Given the description of an element on the screen output the (x, y) to click on. 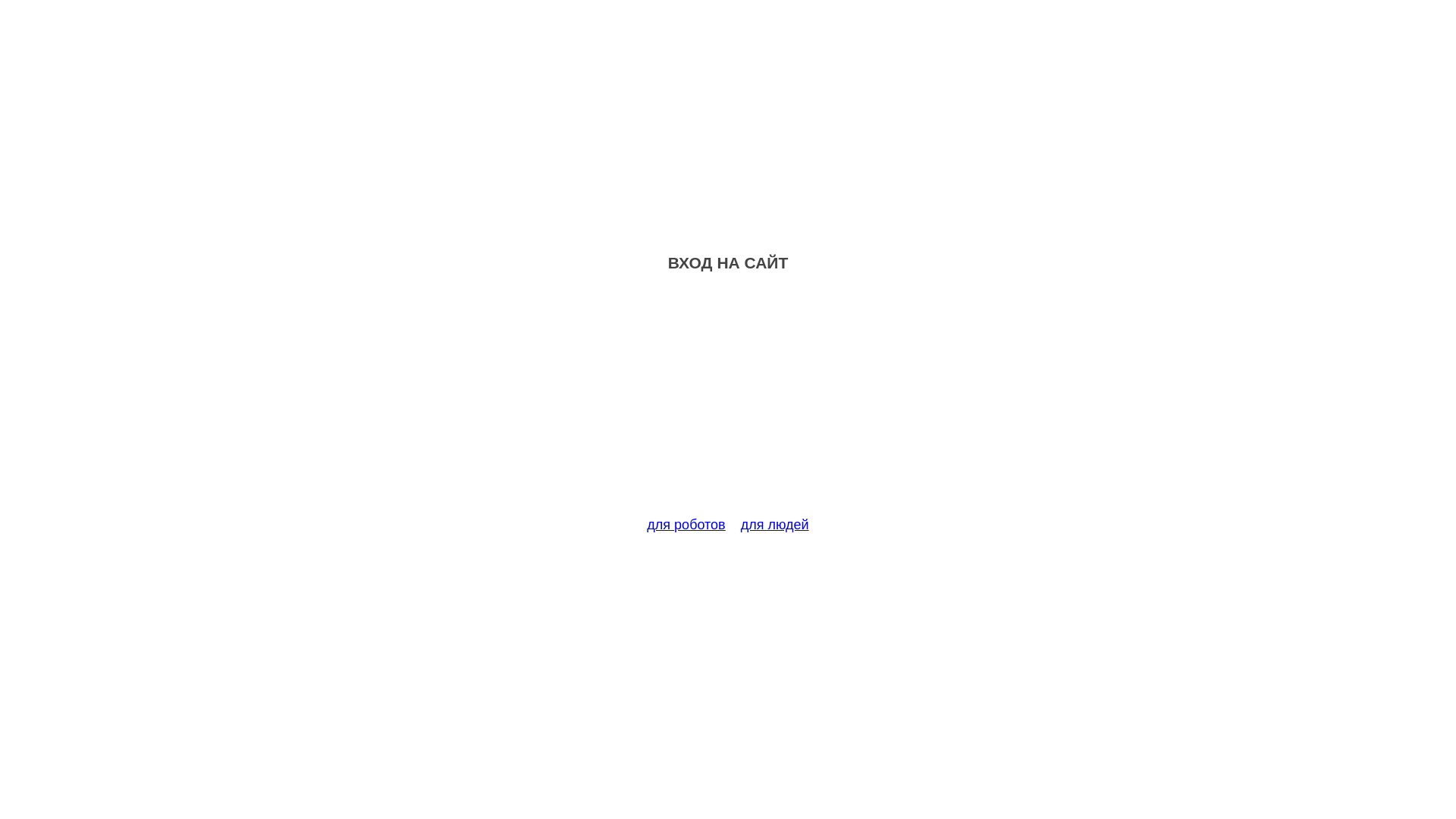
Advertisement Element type: hover (727, 403)
